Given the description of an element on the screen output the (x, y) to click on. 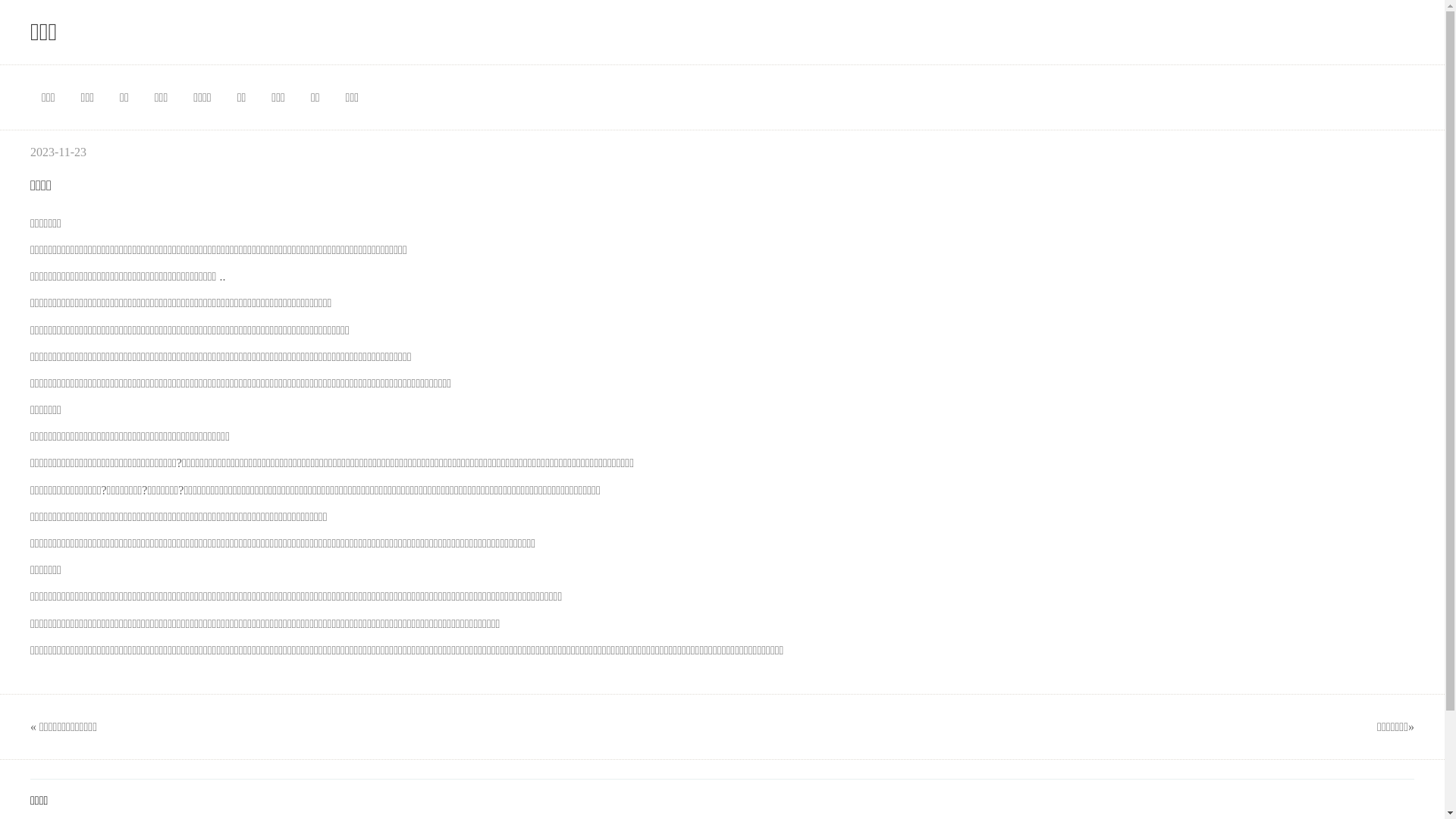
2023-11-23 Element type: text (58, 151)
